Given the description of an element on the screen output the (x, y) to click on. 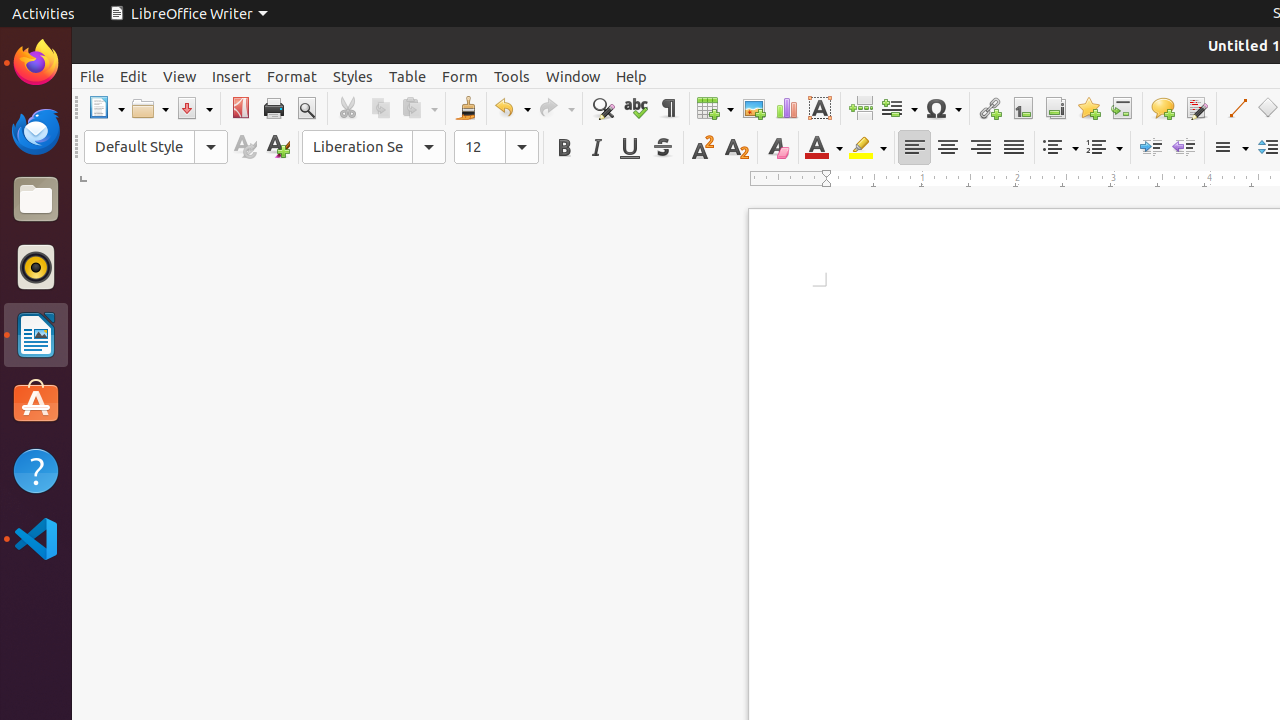
Justified Element type: toggle-button (1013, 147)
Thunderbird Mail Element type: push-button (36, 131)
Page Break Element type: push-button (860, 108)
Tools Element type: menu (512, 76)
Open Element type: push-button (150, 108)
